Given the description of an element on the screen output the (x, y) to click on. 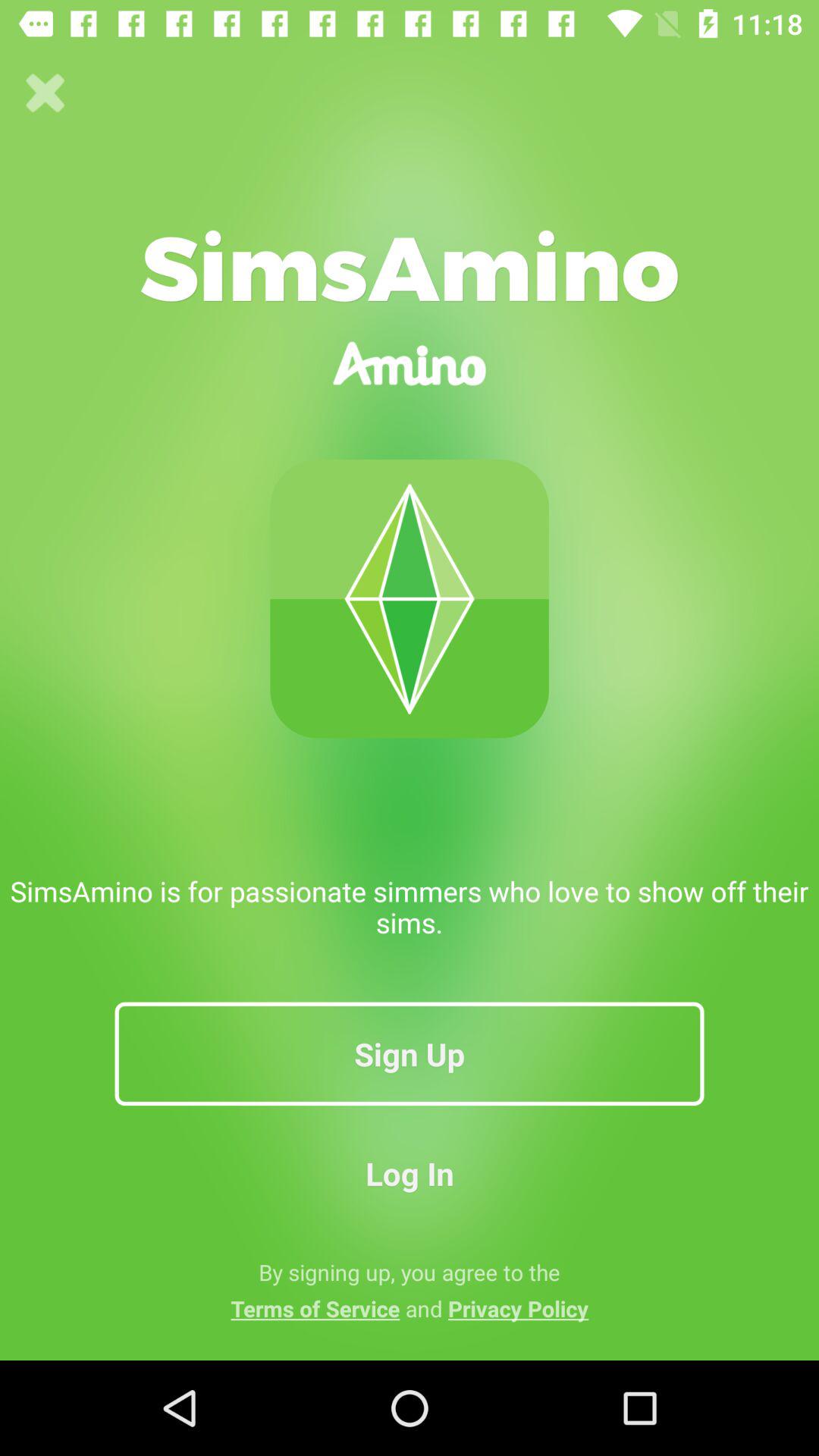
select the button above log in icon (409, 1053)
